Given the description of an element on the screen output the (x, y) to click on. 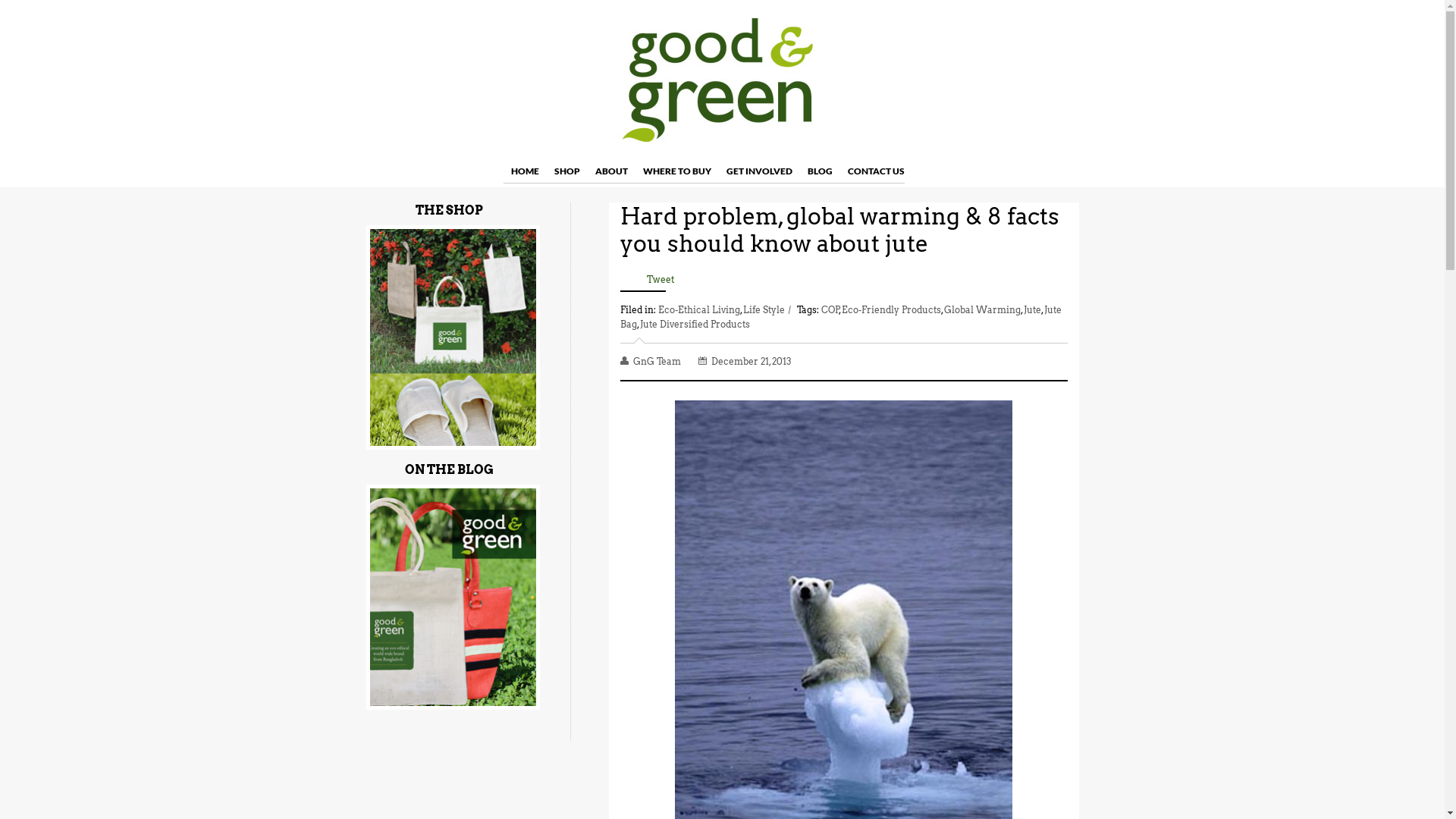
BLOG Element type: text (819, 170)
Jute Diversified Products Element type: text (694, 323)
GET INVOLVED Element type: text (759, 170)
CONTACT US Element type: text (876, 170)
ABOUT Element type: text (610, 170)
Life Style Element type: text (763, 309)
Jute Bag Element type: text (840, 316)
Eco-Ethical Living Element type: text (699, 309)
Tweet Element type: text (659, 279)
GnG Team Element type: text (658, 361)
Global Warming Element type: text (981, 309)
WHERE TO BUY Element type: text (676, 170)
COP Element type: text (829, 309)
Jute Element type: text (1032, 309)
HOME Element type: text (524, 170)
SHOP Element type: text (566, 170)
Eco-Friendly Products Element type: text (891, 309)
December 21, 2013 Element type: text (751, 361)
